Given the description of an element on the screen output the (x, y) to click on. 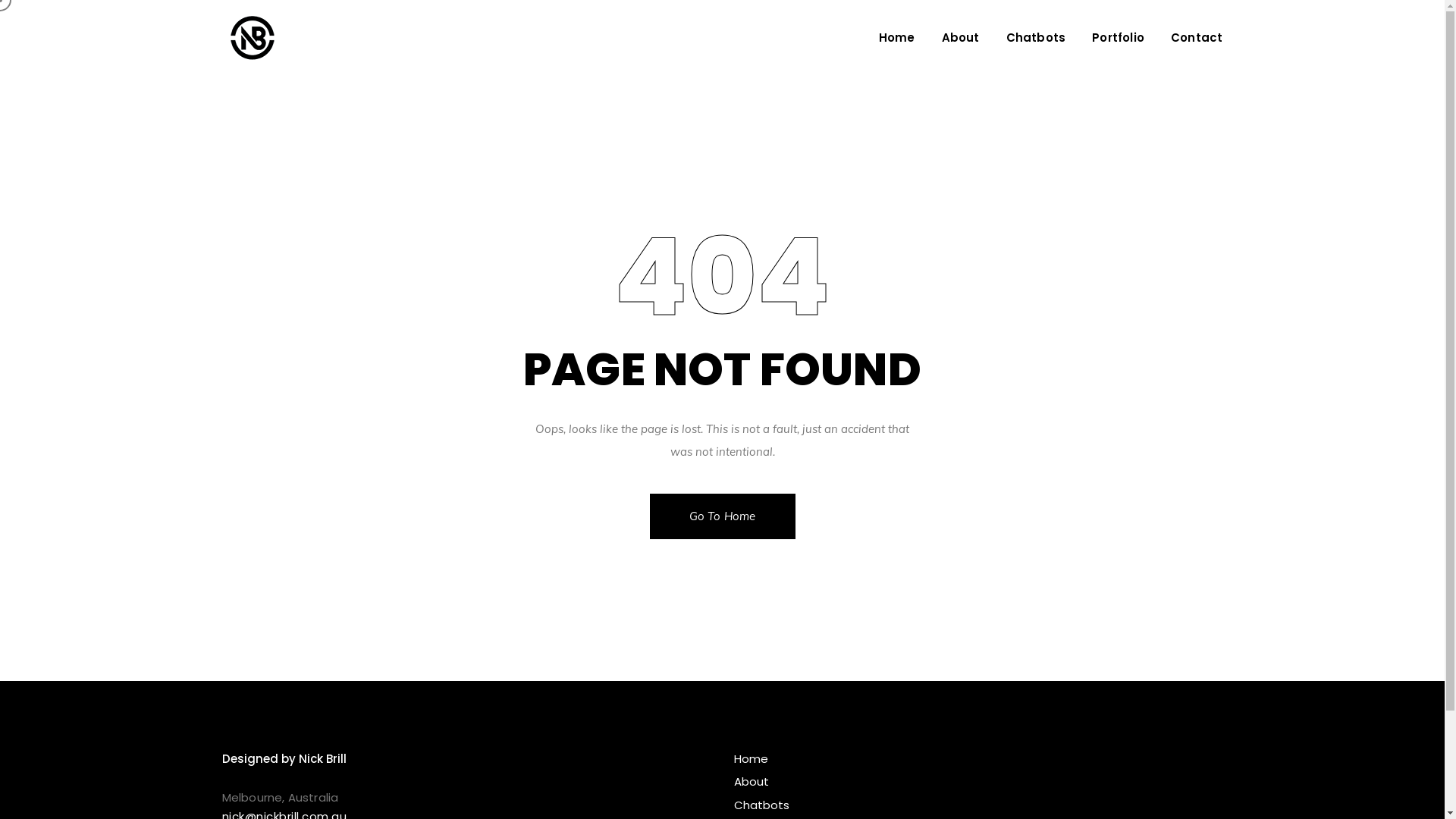
Chatbots Element type: text (978, 804)
Go To Home Element type: text (721, 516)
Home Element type: text (978, 758)
About Element type: text (978, 781)
Chatbots Element type: text (1036, 37)
Contact Element type: text (1196, 37)
Portfolio Element type: text (1118, 37)
About Element type: text (960, 37)
Home Element type: text (896, 37)
